Given the description of an element on the screen output the (x, y) to click on. 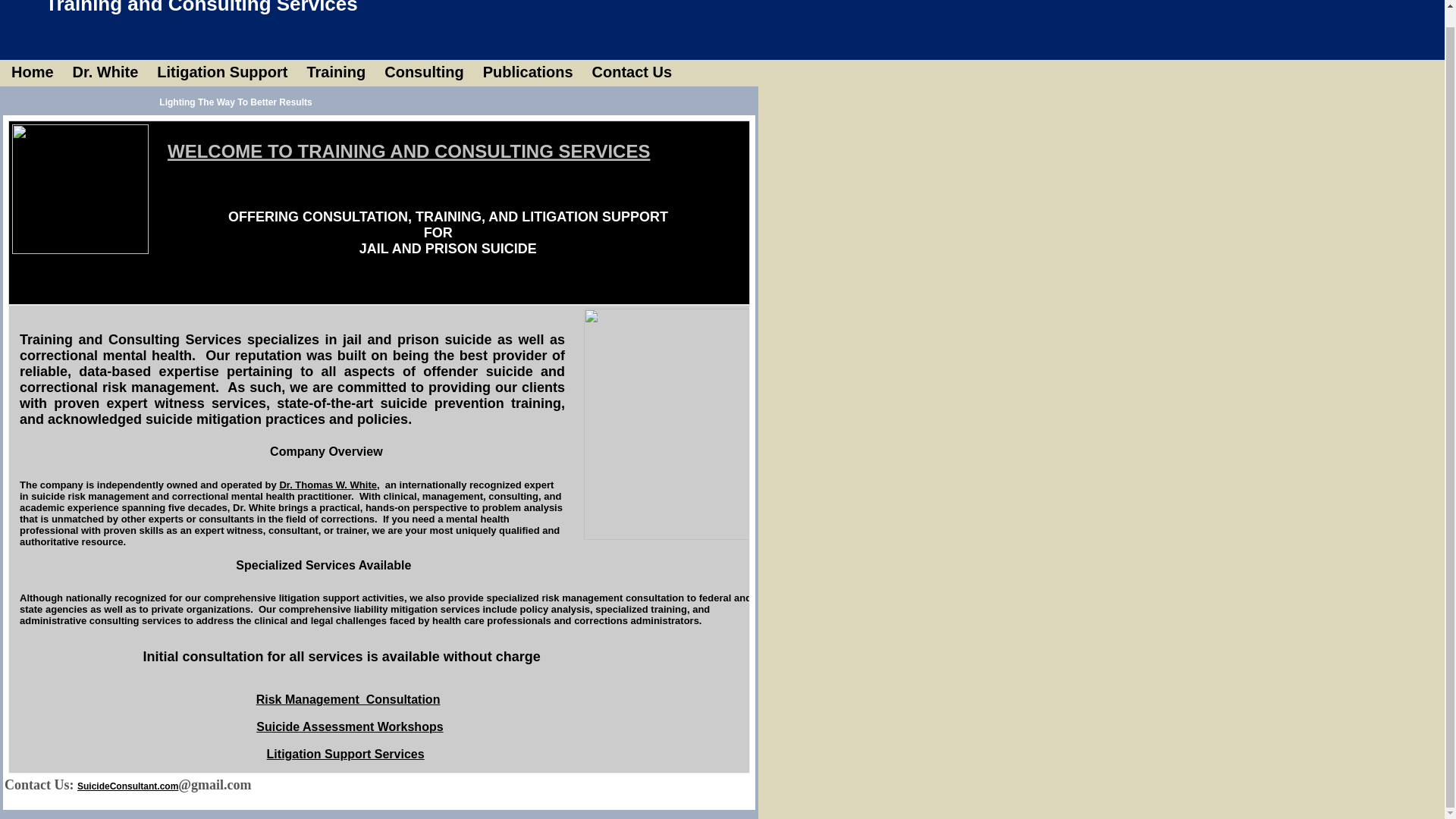
Litigation Support Services (345, 755)
Training (333, 72)
SuicideConsultant.com (127, 786)
Dr. White (104, 72)
Contact Us (629, 72)
Home (30, 72)
Dr. Thomas W. White, (328, 484)
Consulting (421, 72)
Risk Management  Consultation (348, 700)
Publications (525, 72)
